Given the description of an element on the screen output the (x, y) to click on. 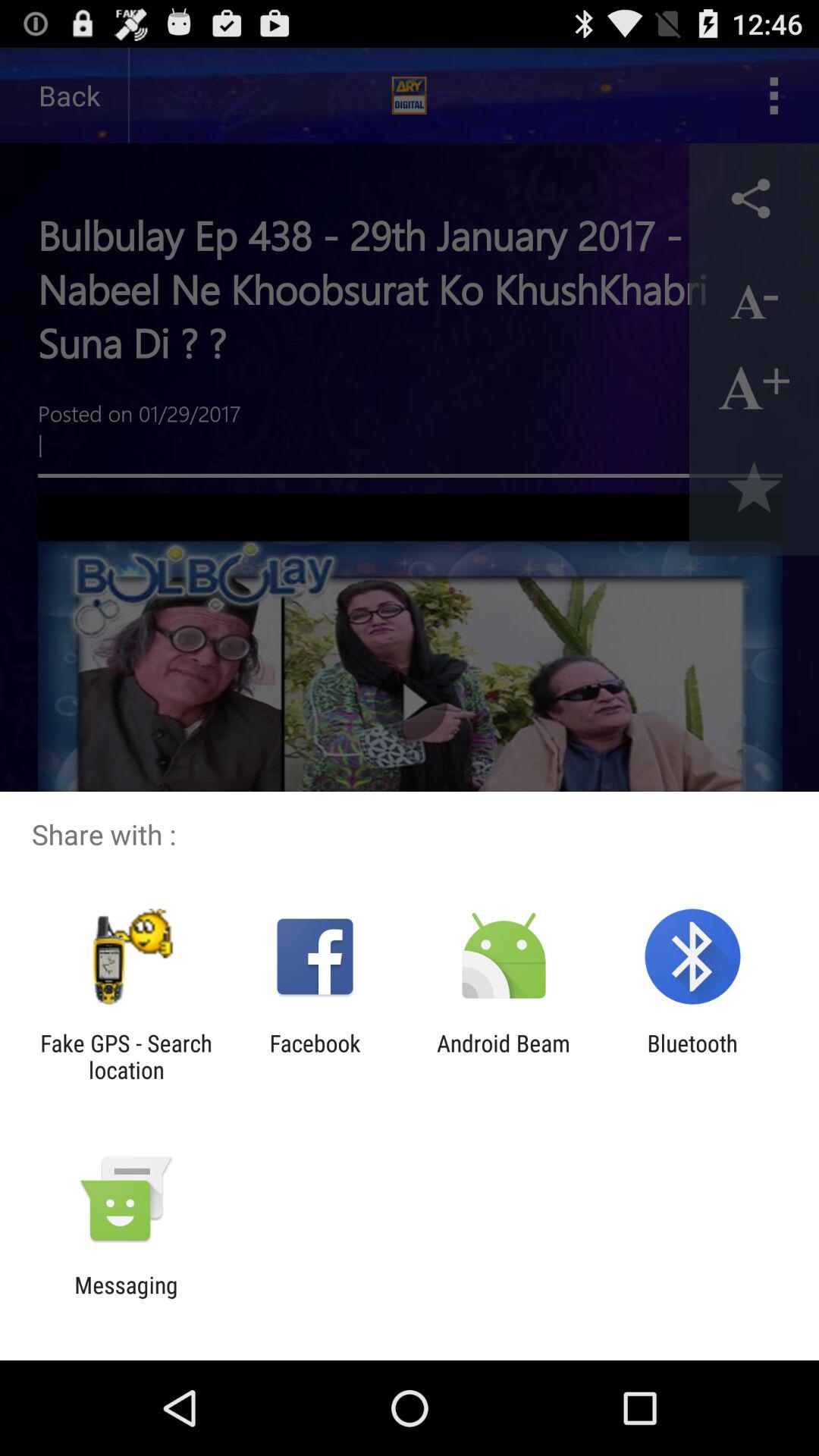
tap the android beam app (503, 1056)
